Given the description of an element on the screen output the (x, y) to click on. 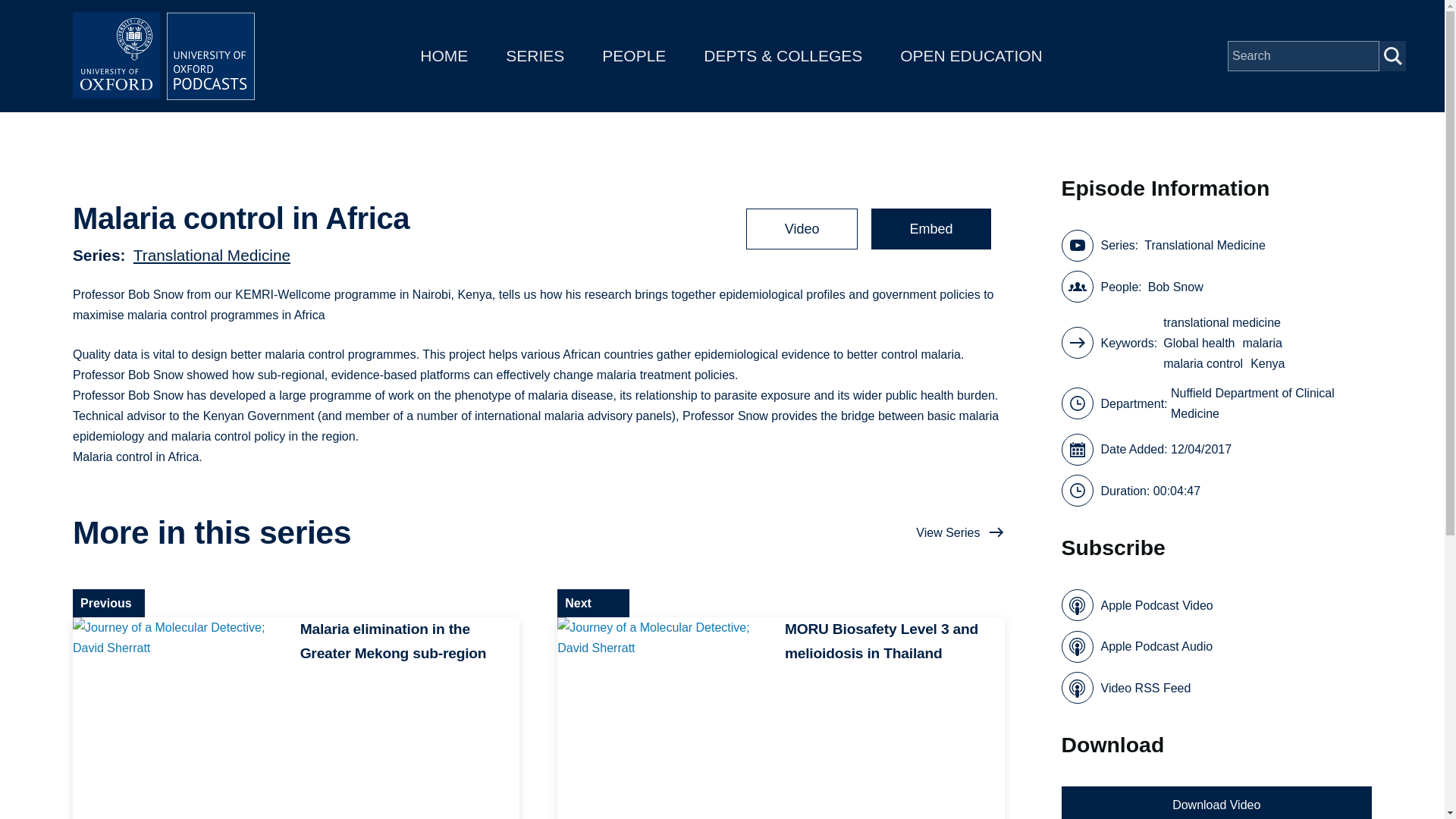
Apple Podcast Audio (1136, 646)
Translational Medicine (1204, 245)
malaria control (1203, 362)
Kenya (1267, 362)
Apple Podcast Video (1136, 604)
View Series (959, 532)
Embed (930, 228)
Translational Medicine (211, 253)
translational medicine (1222, 322)
Bob Snow (1176, 286)
MORU Biosafety Level 3 and melioidosis in Thailand (780, 718)
SERIES (534, 55)
OPEN EDUCATION (970, 55)
Video (802, 228)
malaria (1261, 342)
